Given the description of an element on the screen output the (x, y) to click on. 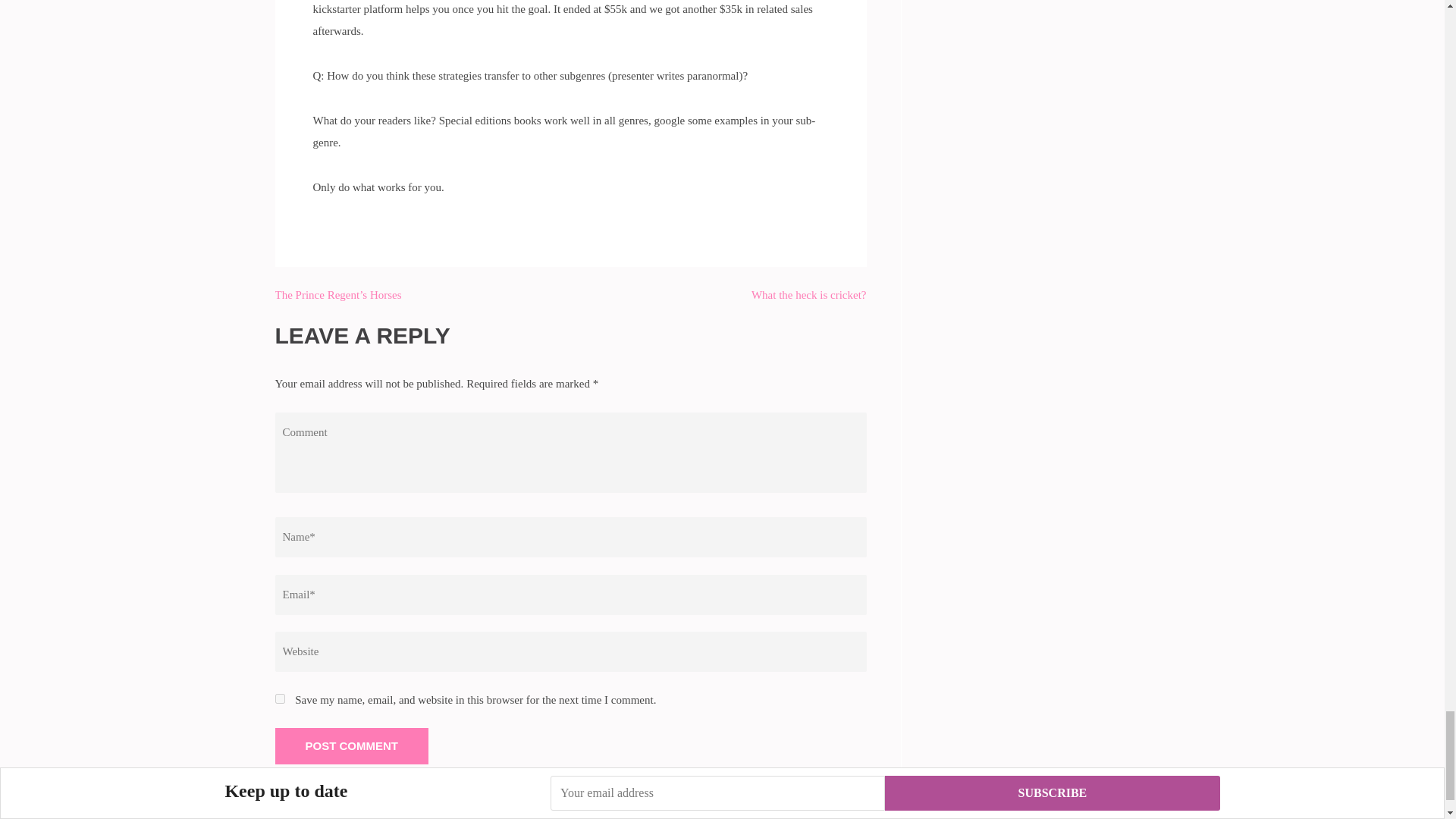
Post Comment (351, 746)
Post Comment (351, 746)
What the heck is cricket? (808, 295)
yes (279, 698)
